Given the description of an element on the screen output the (x, y) to click on. 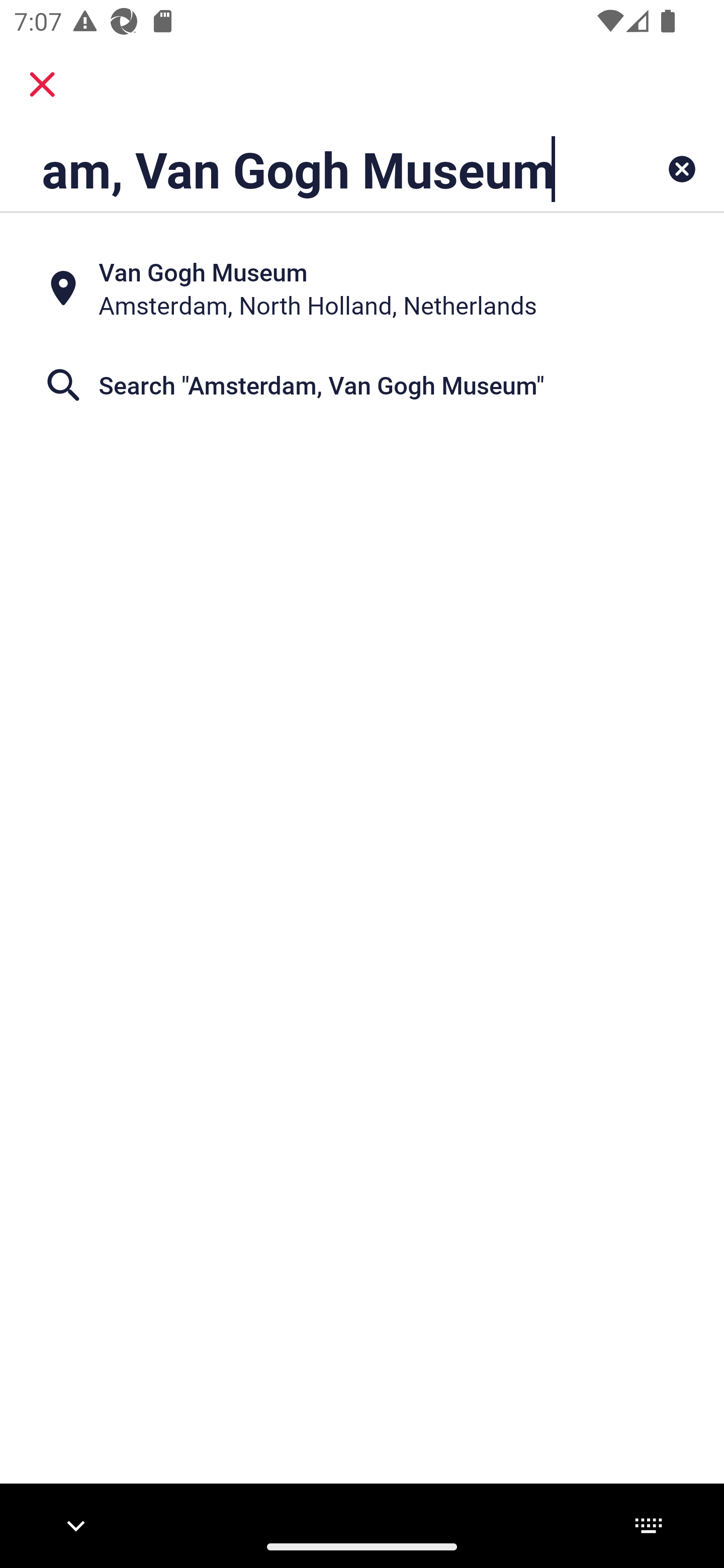
close. (42, 84)
Clear (681, 169)
Amsterdam, Van Gogh Museum (298, 169)
Search "Amsterdam, Van Gogh Museum" (362, 384)
